Given the description of an element on the screen output the (x, y) to click on. 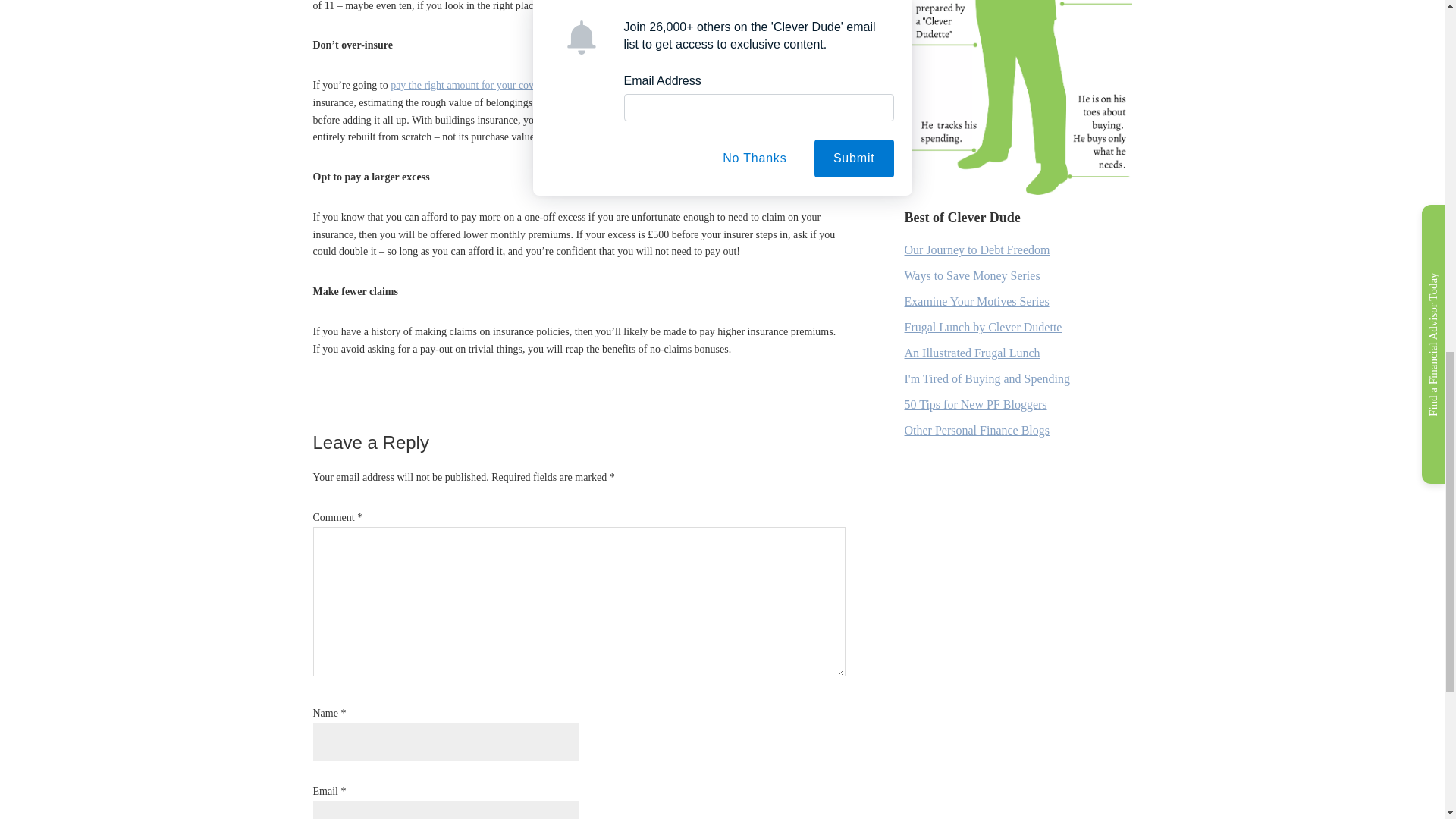
Ways to Save Money Series (971, 275)
Other Personal Finance Blogs (976, 430)
50 Tips for New PF Bloggers (975, 404)
Examine Your Motives Series (976, 300)
Our Journey to Debt Freedom (976, 249)
pay the right amount for your coverage (473, 84)
Frugal Lunch by Clever Dudette (982, 327)
An Illustrated Frugal Lunch (971, 352)
I'm Tired of Buying and Spending (986, 378)
